Given the description of an element on the screen output the (x, y) to click on. 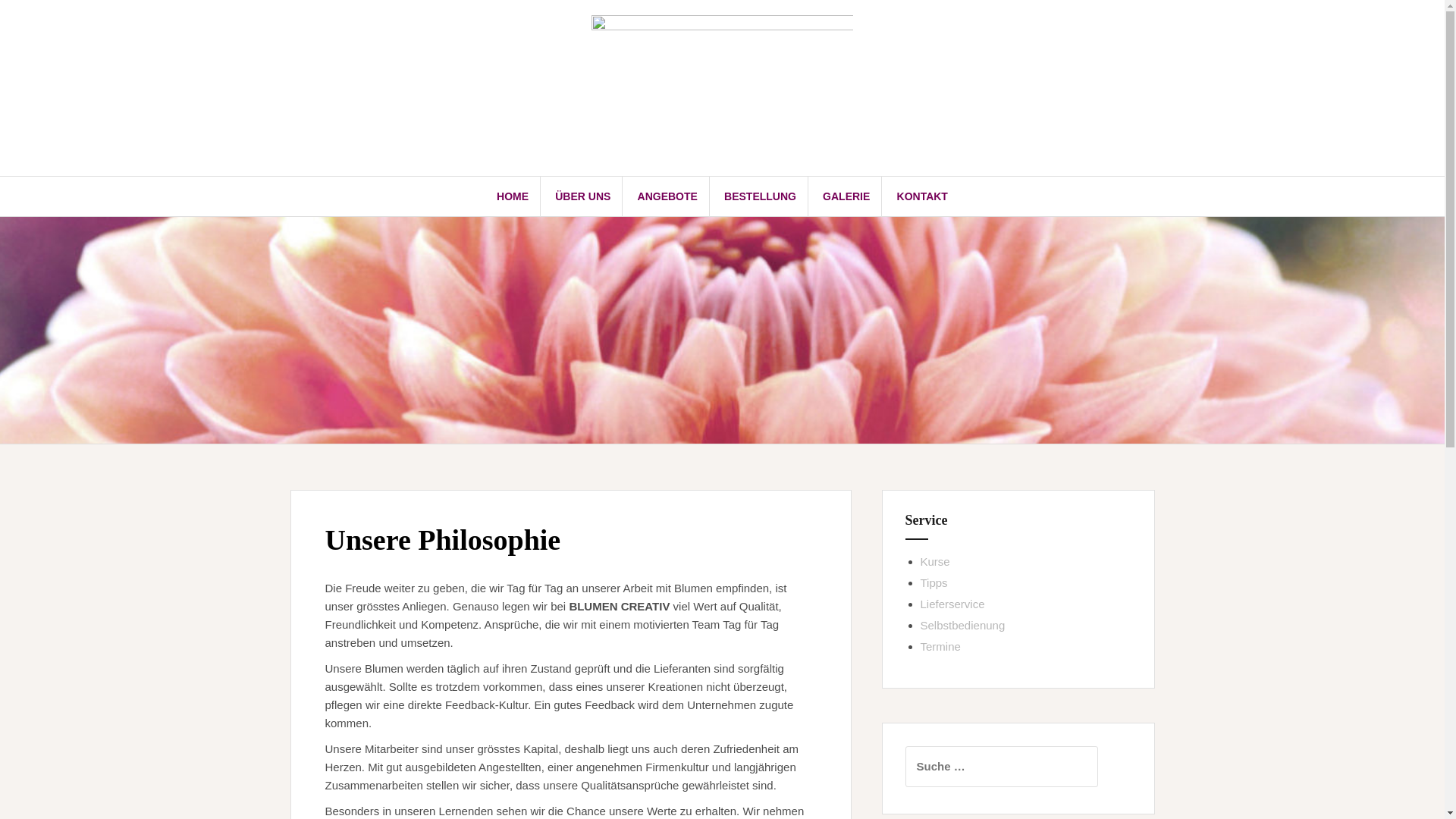
Selbstbedienung Element type: text (962, 624)
Termine Element type: text (940, 646)
Suche Element type: text (28, 20)
Tipps Element type: text (933, 582)
BESTELLUNG Element type: text (760, 196)
KONTAKT Element type: text (922, 196)
Kurse Element type: text (935, 561)
GALERIE Element type: text (845, 196)
ANGEBOTE Element type: text (667, 196)
Lieferservice Element type: text (952, 603)
HOME Element type: text (512, 196)
